Given the description of an element on the screen output the (x, y) to click on. 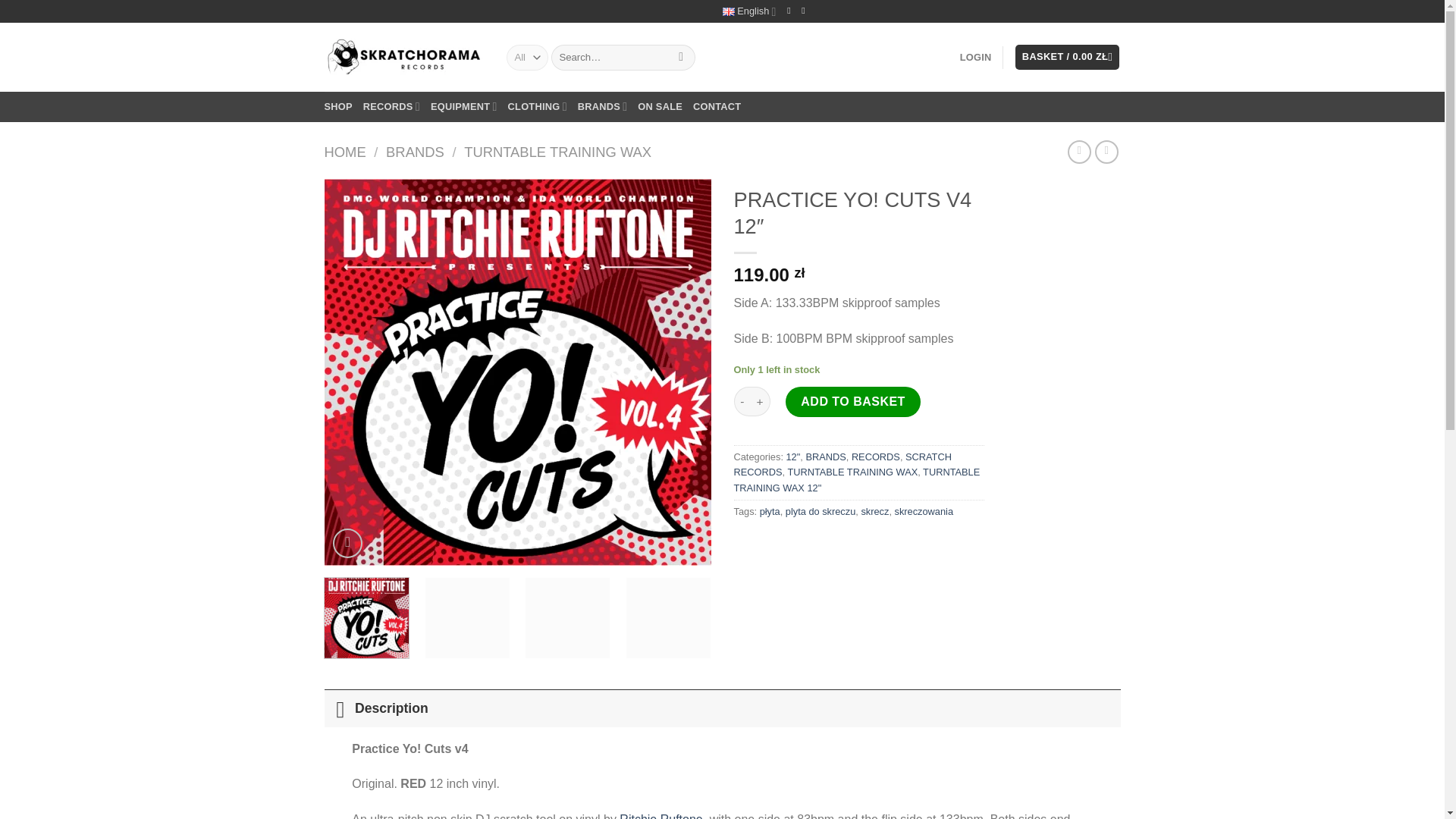
EQUIPMENT (463, 106)
LOGIN (975, 57)
RECORDS (391, 106)
SKRATCHORAMA RECORDS (403, 57)
English (749, 11)
Basket (1066, 57)
Zoom (347, 542)
BRANDS (602, 106)
CLOTHING (537, 106)
Search (681, 57)
